Given the description of an element on the screen output the (x, y) to click on. 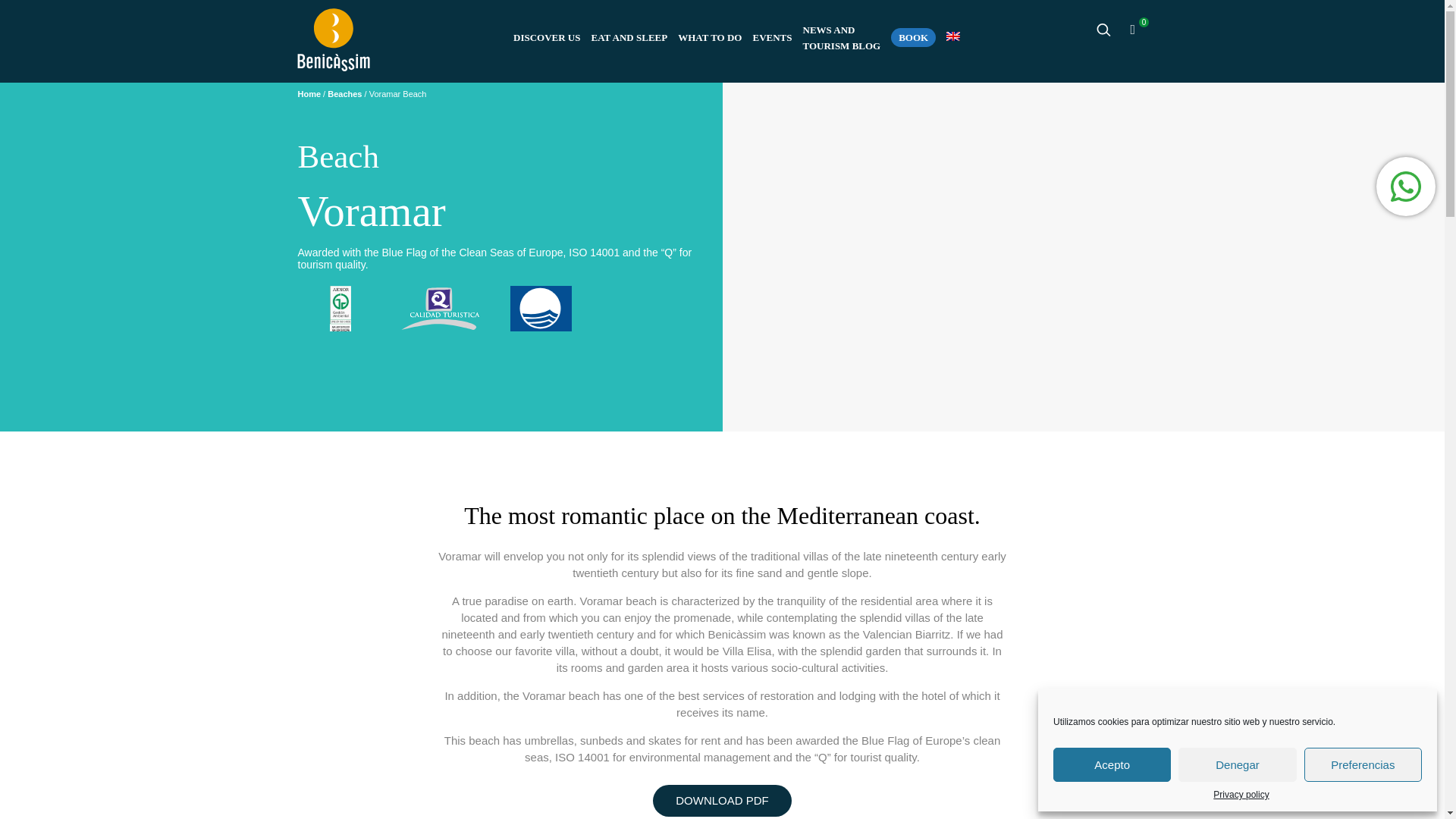
EVENTS (771, 38)
EAT AND SLEEP (628, 38)
WHAT TO DO (841, 38)
Acepto (709, 38)
DISCOVER US (1111, 764)
Denegar (547, 38)
Privacy policy (1236, 764)
Preferencias (1240, 794)
